Given the description of an element on the screen output the (x, y) to click on. 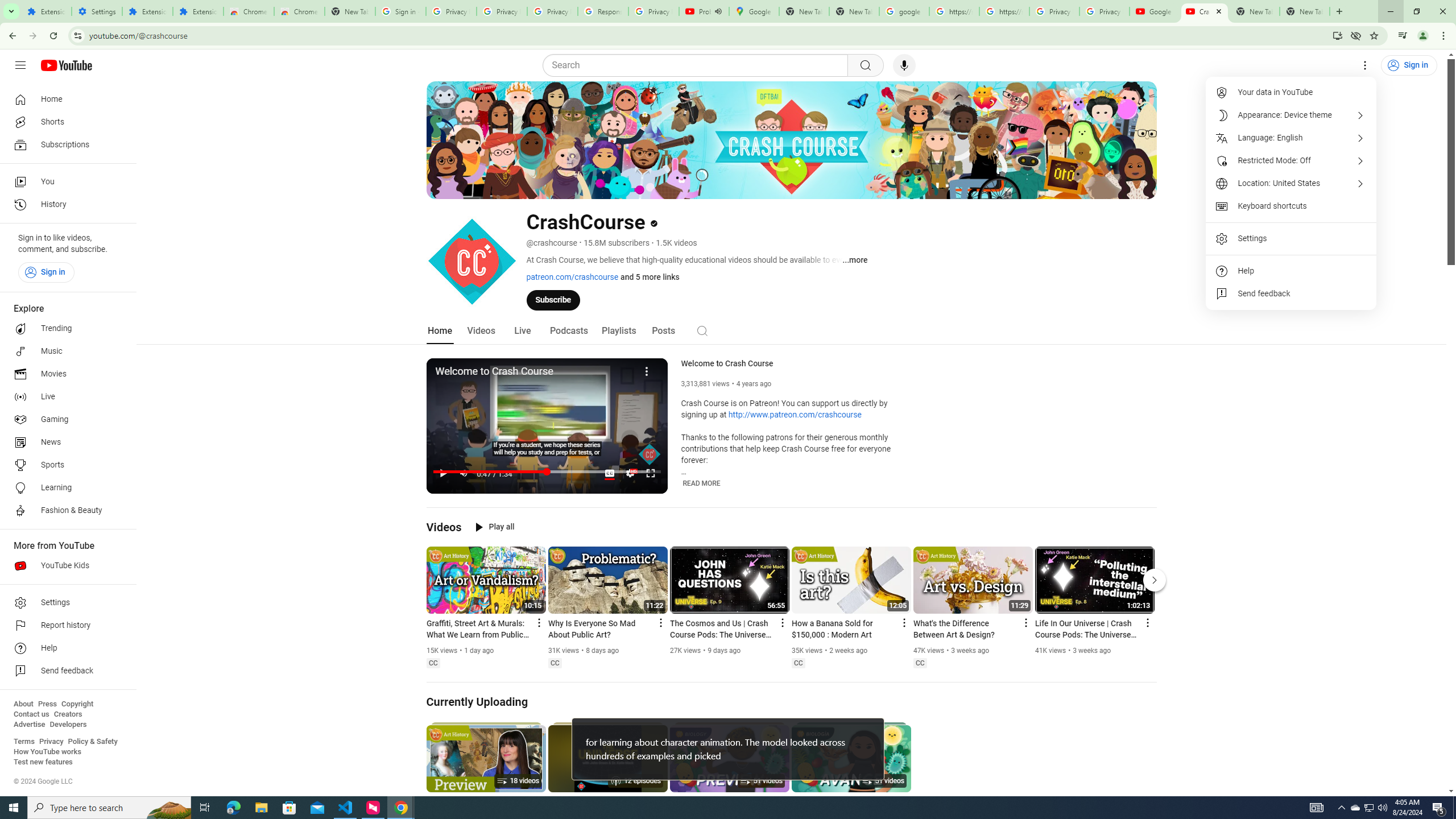
Posts (663, 330)
Movies (64, 373)
New Tab (350, 11)
Subscriptions (64, 144)
Press (46, 703)
Extensions (197, 11)
Your data in YouTube (1291, 92)
